Given the description of an element on the screen output the (x, y) to click on. 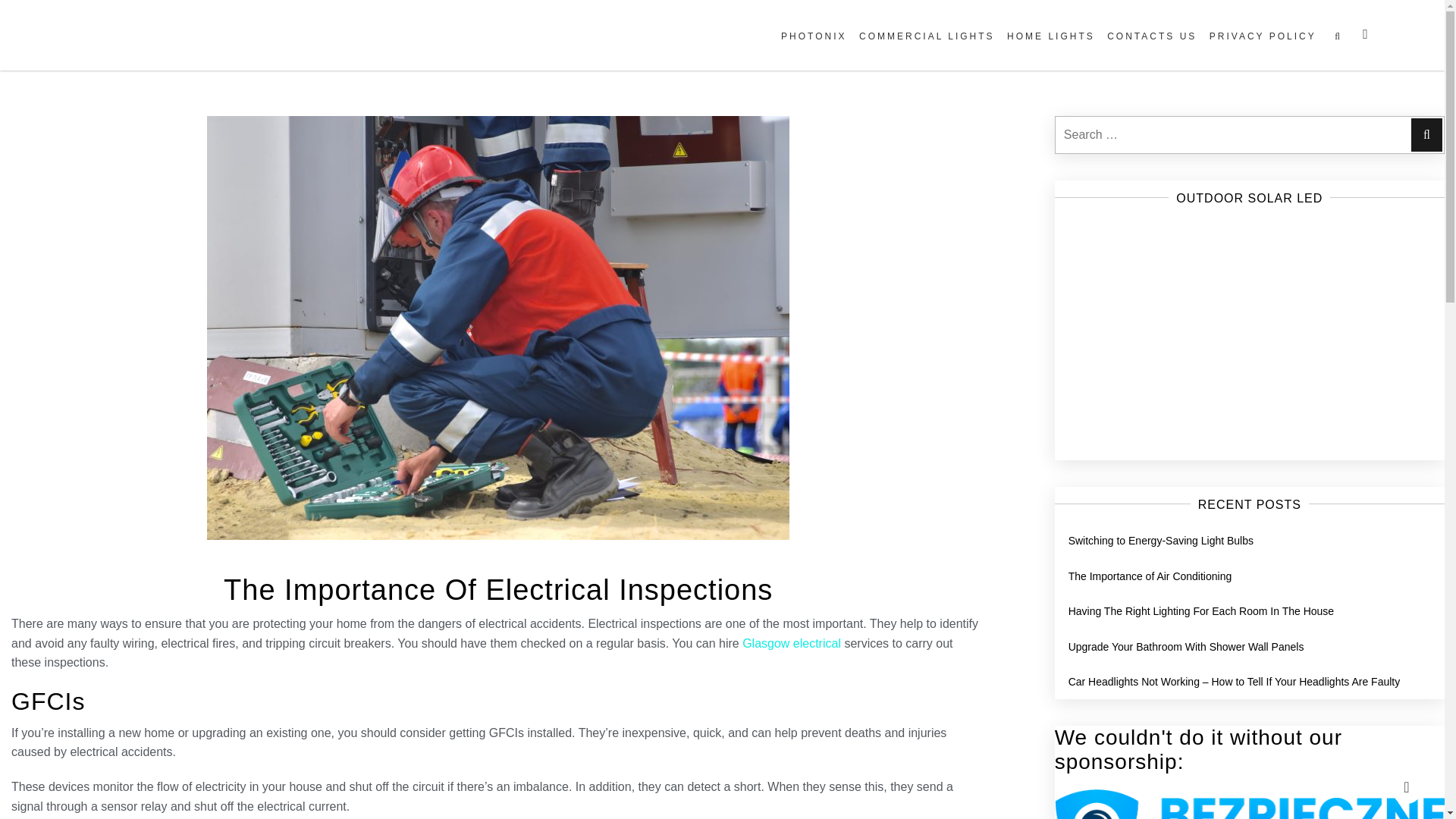
Upgrade Your Bathroom With Shower Wall Panels (1186, 646)
PHOTONIX (813, 35)
COMMERCIAL LIGHTS (926, 35)
Switching to Energy-Saving Light Bulbs (1160, 540)
HOME LIGHTS (1051, 35)
Having The Right Lighting For Each Room In The House (1200, 611)
The Importance of Air Conditioning (1149, 576)
CONTACTS US (1151, 35)
Glasgow electrical (791, 643)
PRIVACY POLICY (1262, 35)
